Given the description of an element on the screen output the (x, y) to click on. 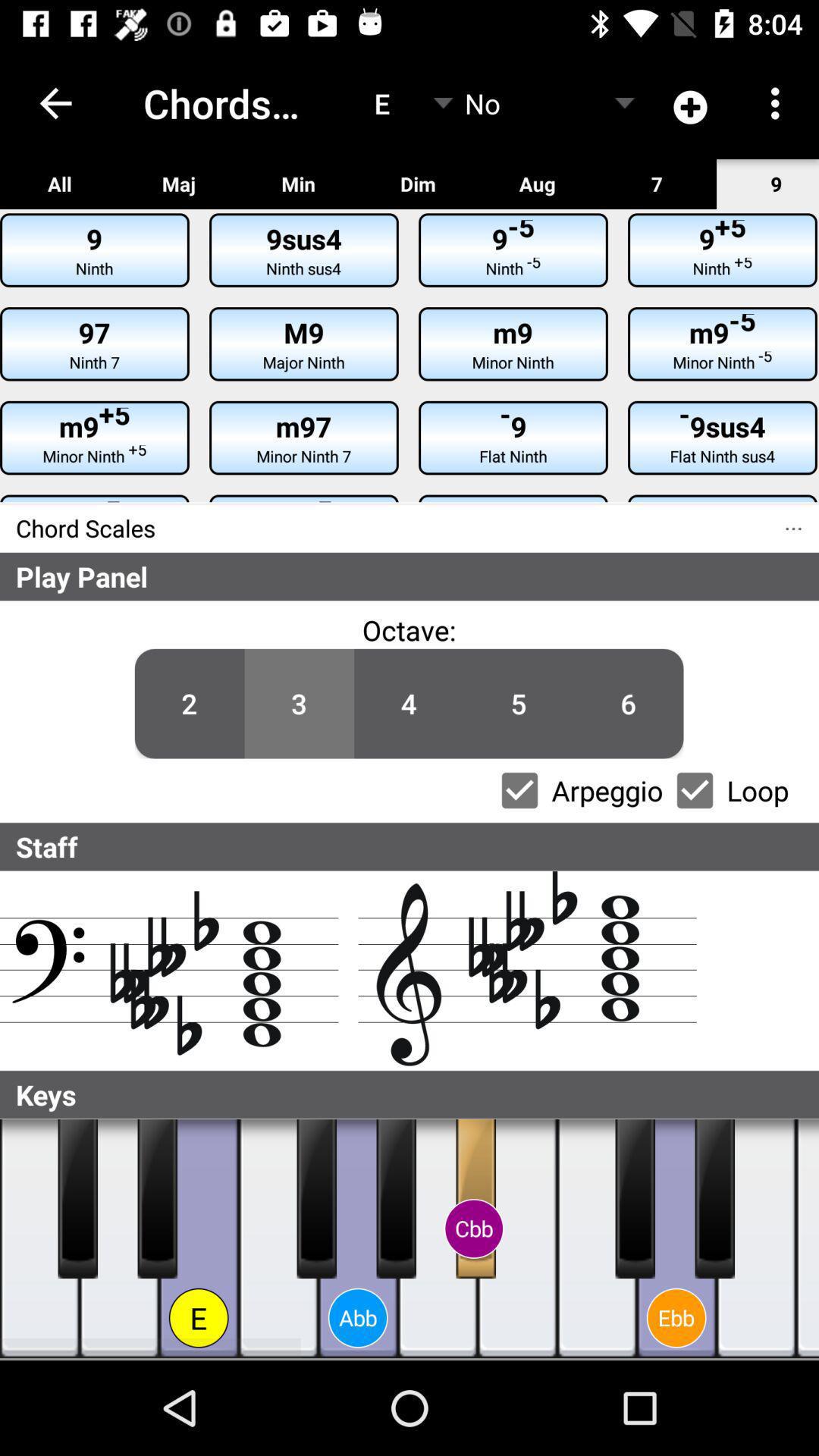
hit cbb key (475, 1198)
